Given the description of an element on the screen output the (x, y) to click on. 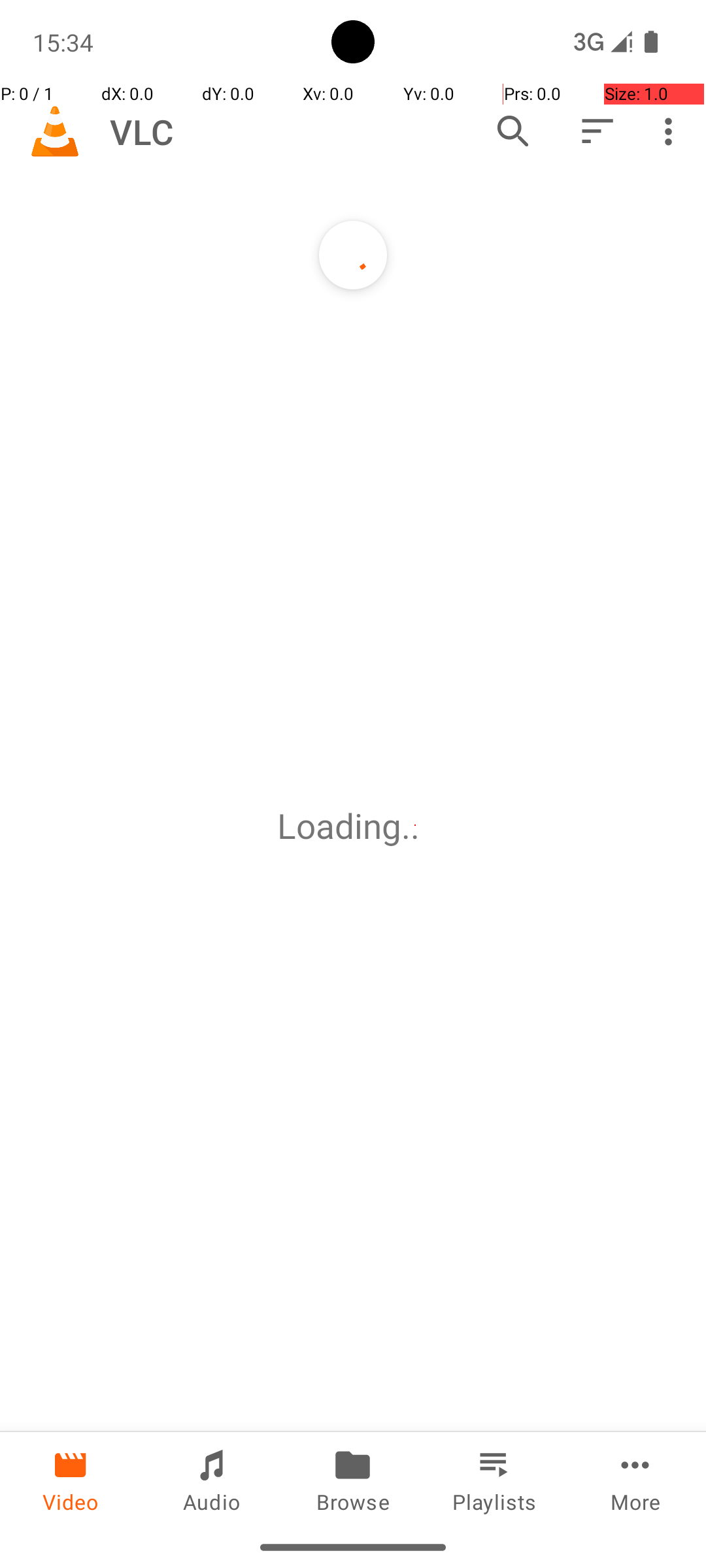
.. Element type: android.widget.TextView (414, 825)
